Given the description of an element on the screen output the (x, y) to click on. 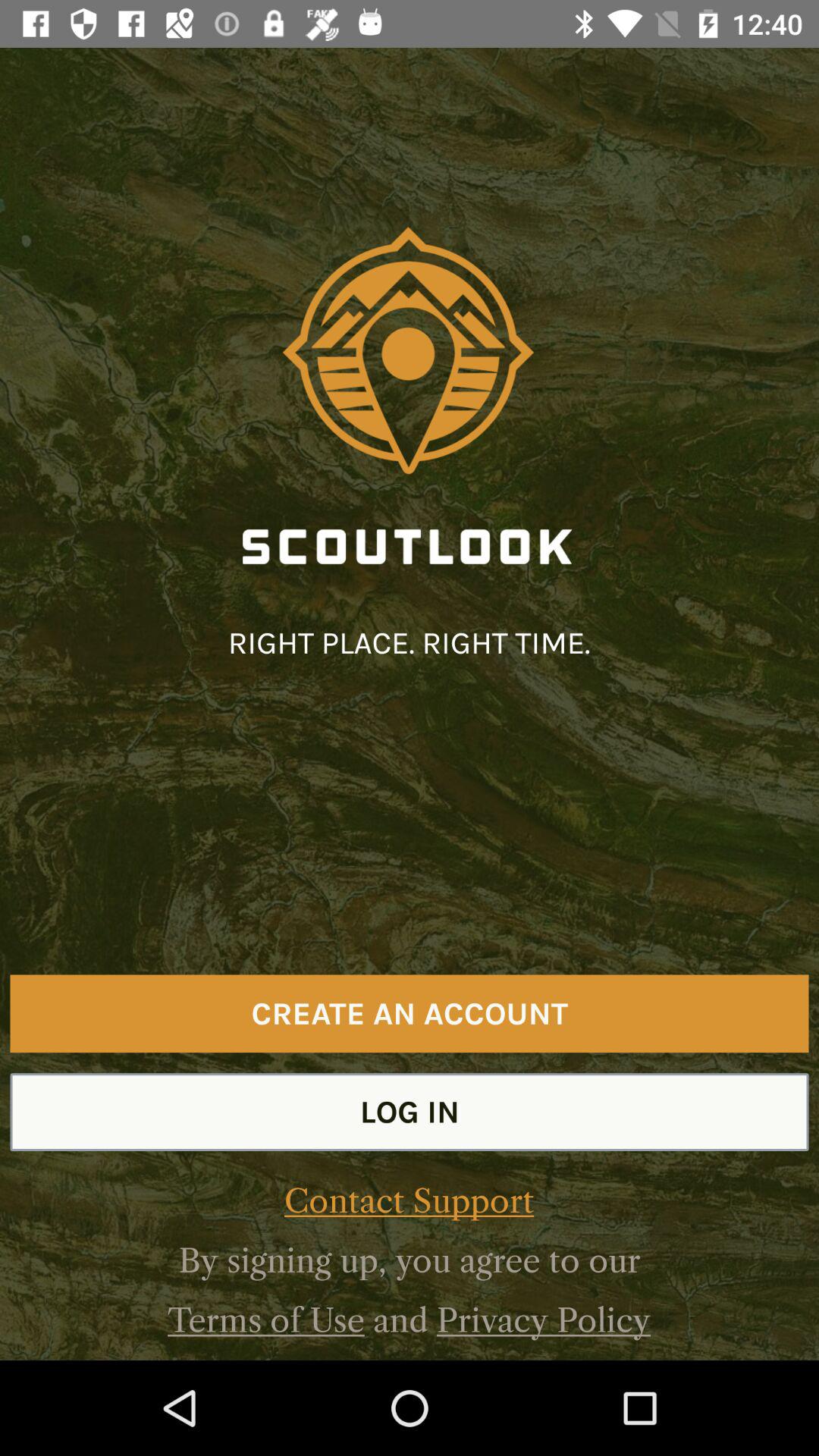
scroll to the log in item (409, 1112)
